Given the description of an element on the screen output the (x, y) to click on. 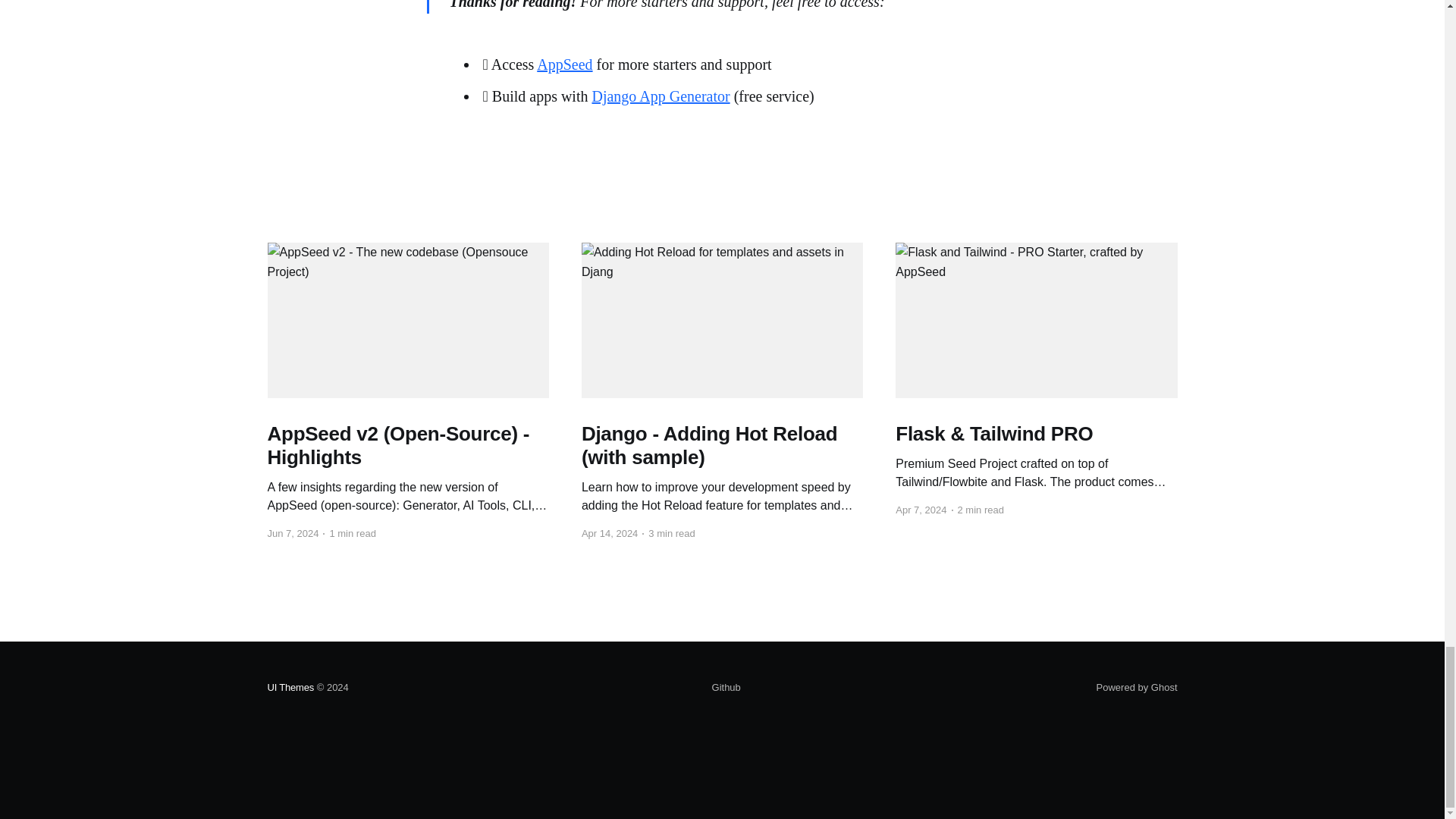
AppSeed (564, 64)
Powered by Ghost (1136, 686)
Github (726, 687)
Django App Generator (660, 95)
UI Themes (290, 686)
